Given the description of an element on the screen output the (x, y) to click on. 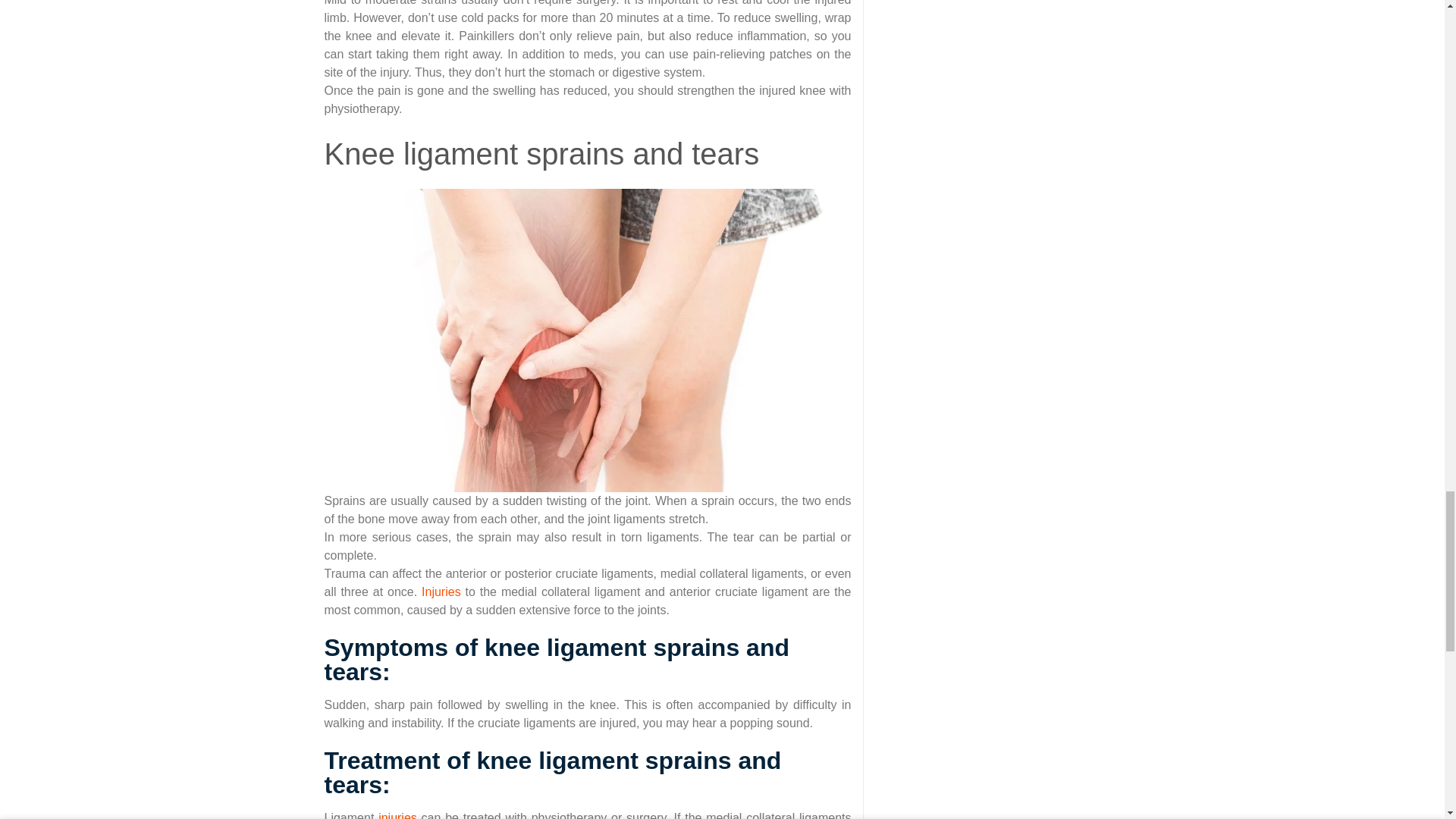
Read more here injuries (441, 591)
Read more here injuries (397, 815)
injuries (397, 815)
Injuries (441, 591)
